Given the description of an element on the screen output the (x, y) to click on. 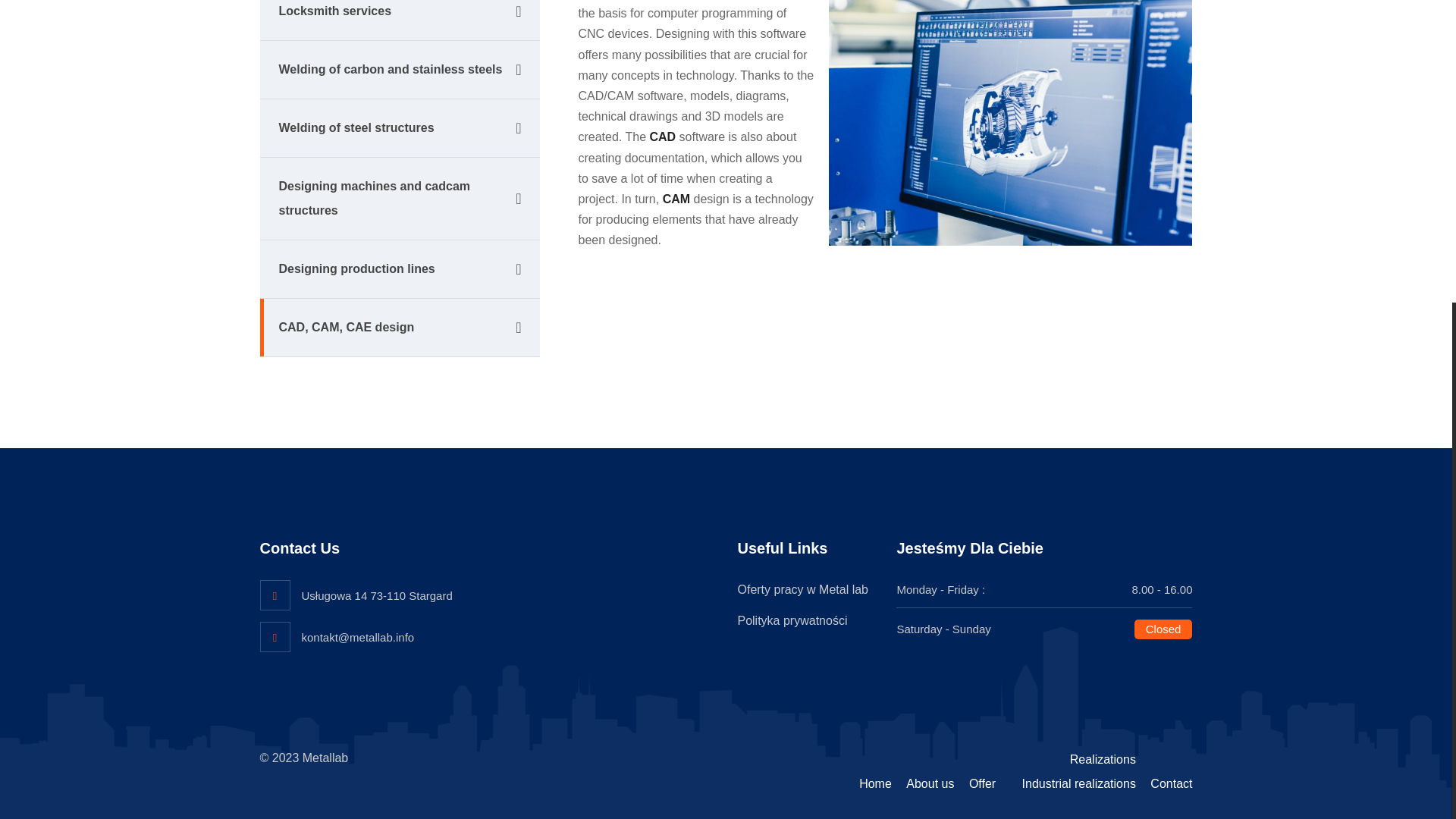
Designing machines and cadcam structures (399, 199)
Contact (1171, 783)
CAD, CAM, CAE design (399, 327)
About us (929, 783)
Industrial realizations (1078, 783)
Welding of steel structures (399, 128)
Designing production lines (399, 269)
Welding of carbon and stainless steels (399, 69)
Realizations (1102, 758)
Home (875, 783)
Oferty pracy w Metal lab (801, 589)
Offer (982, 783)
Locksmith services (399, 20)
